Given the description of an element on the screen output the (x, y) to click on. 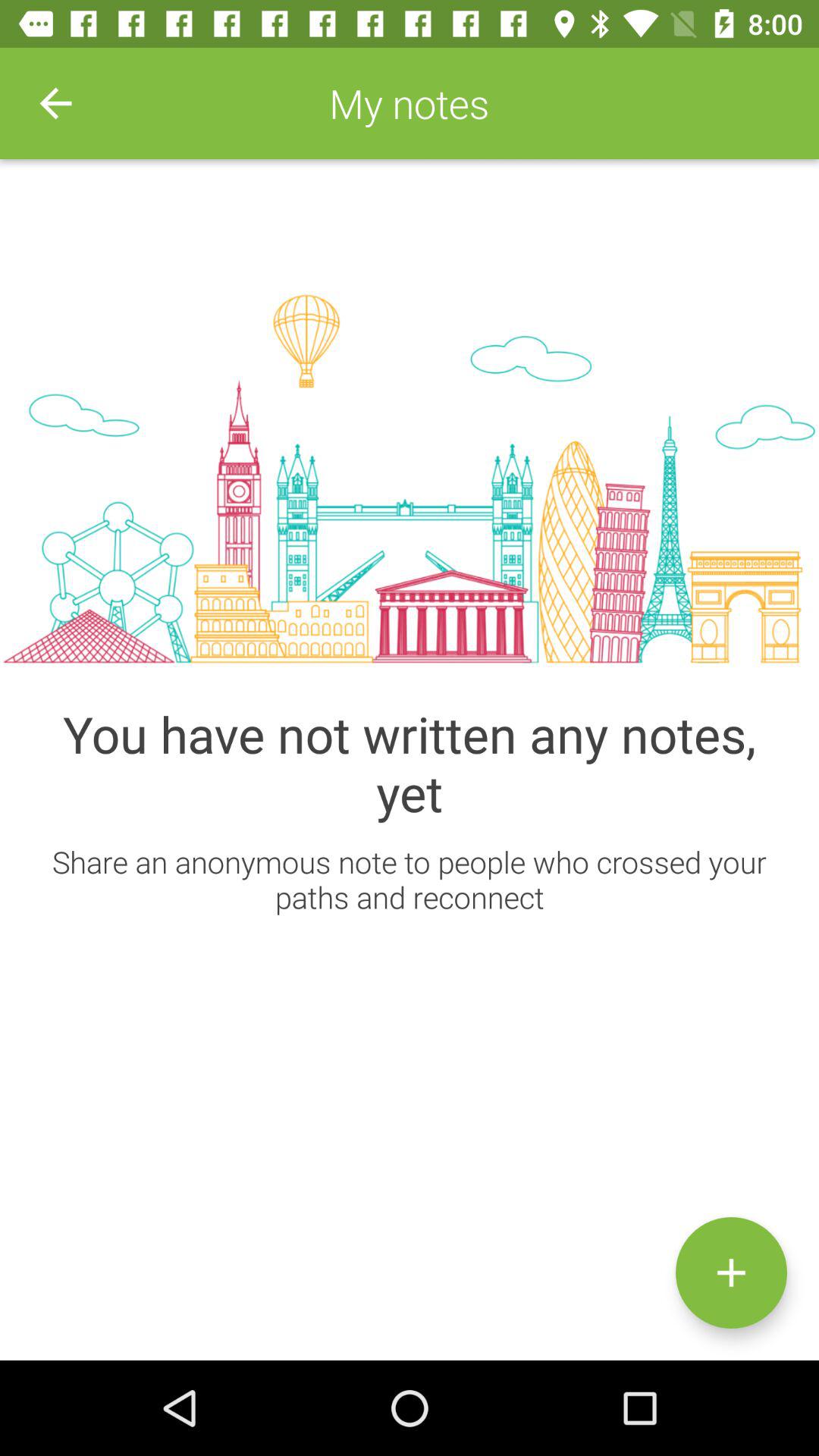
turn on the icon at the bottom right corner (731, 1272)
